Given the description of an element on the screen output the (x, y) to click on. 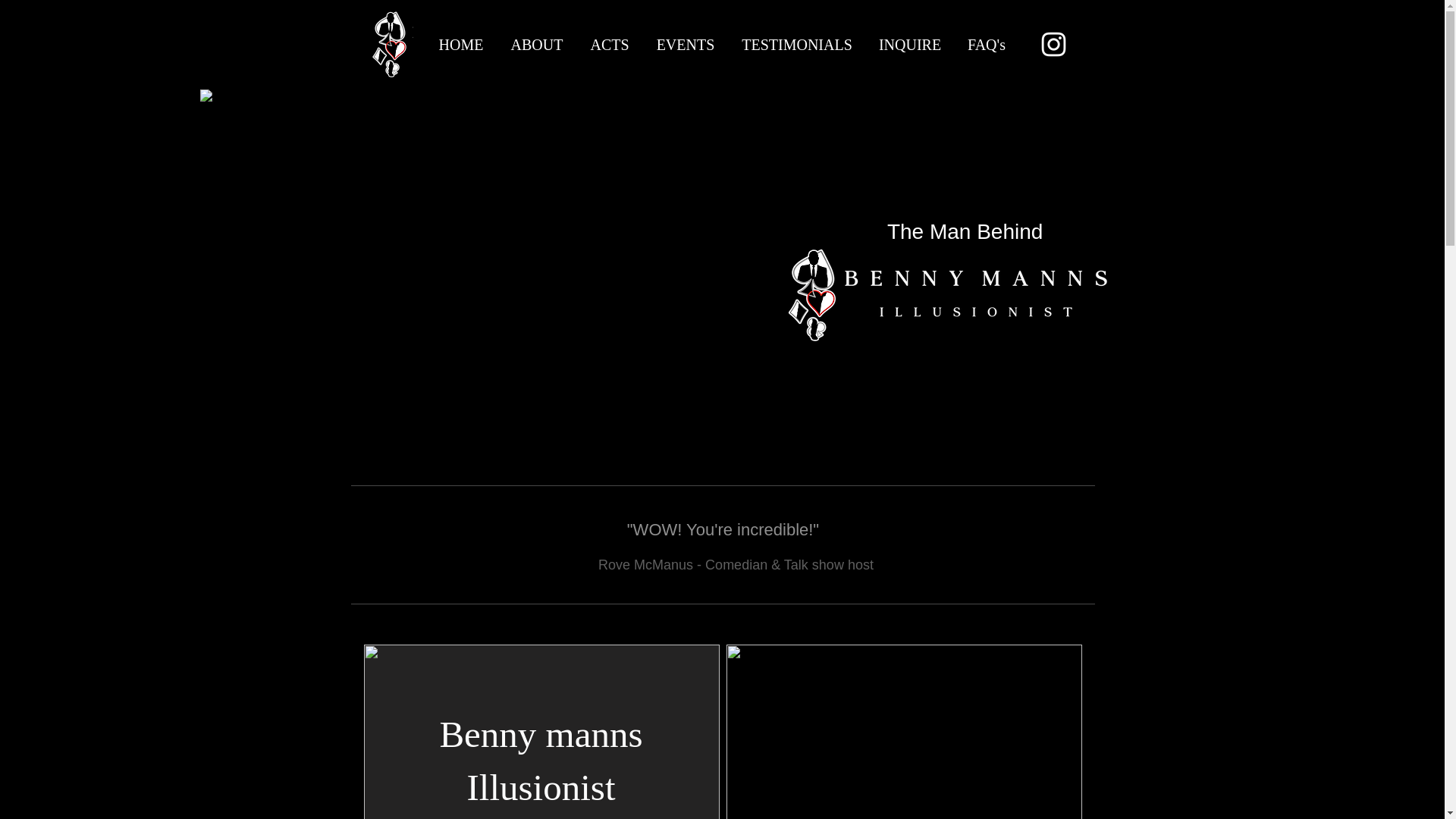
ABOUT (536, 44)
HOME (460, 44)
FAQ's (985, 44)
ACTS (609, 44)
EVENTS (686, 44)
TESTIMONIALS (796, 44)
INQUIRE (910, 44)
